Given the description of an element on the screen output the (x, y) to click on. 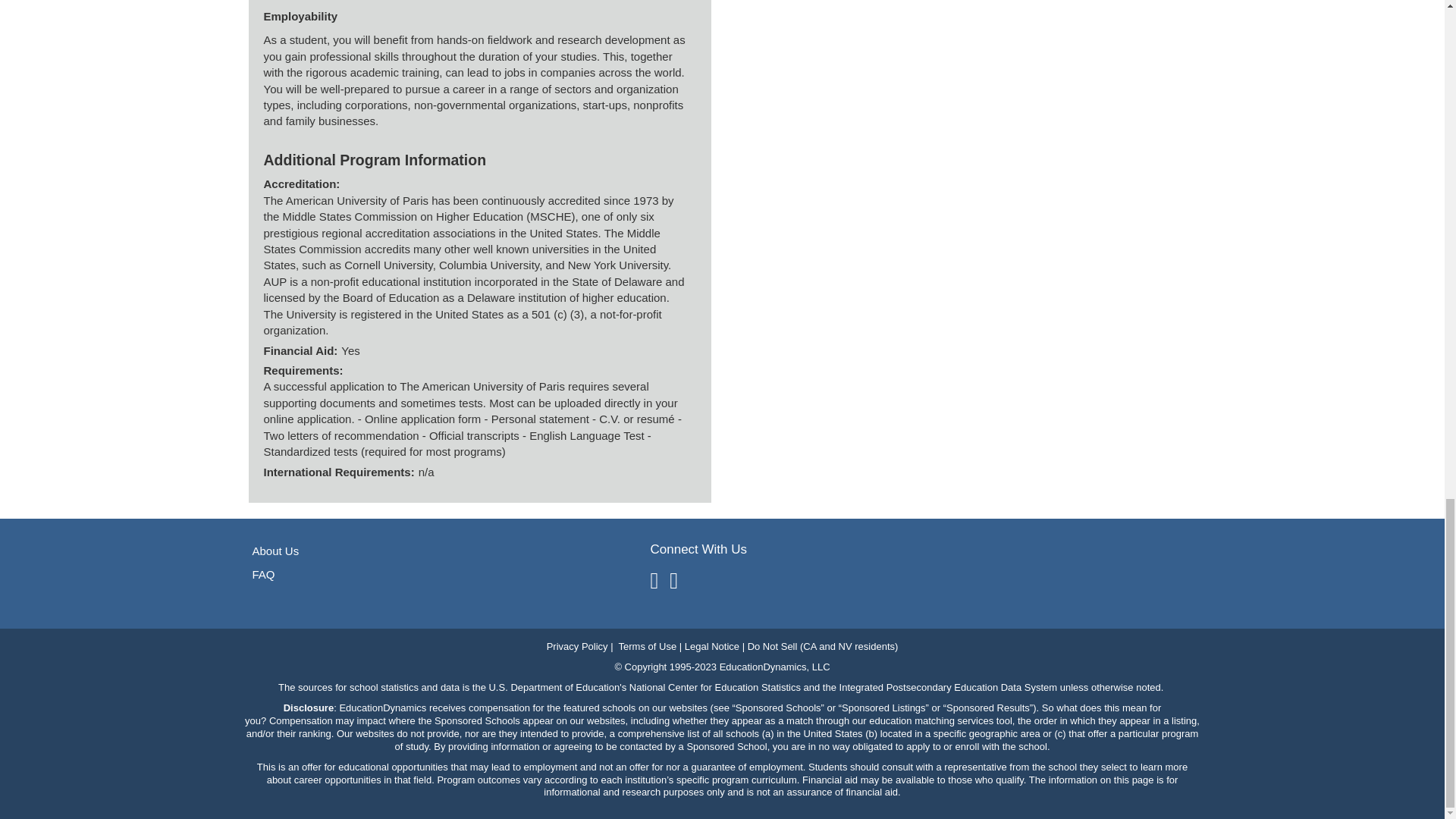
Legal Notice (711, 645)
Terms of Use (647, 645)
Privacy Policy (577, 645)
About Us (274, 550)
FAQ (263, 574)
